Given the description of an element on the screen output the (x, y) to click on. 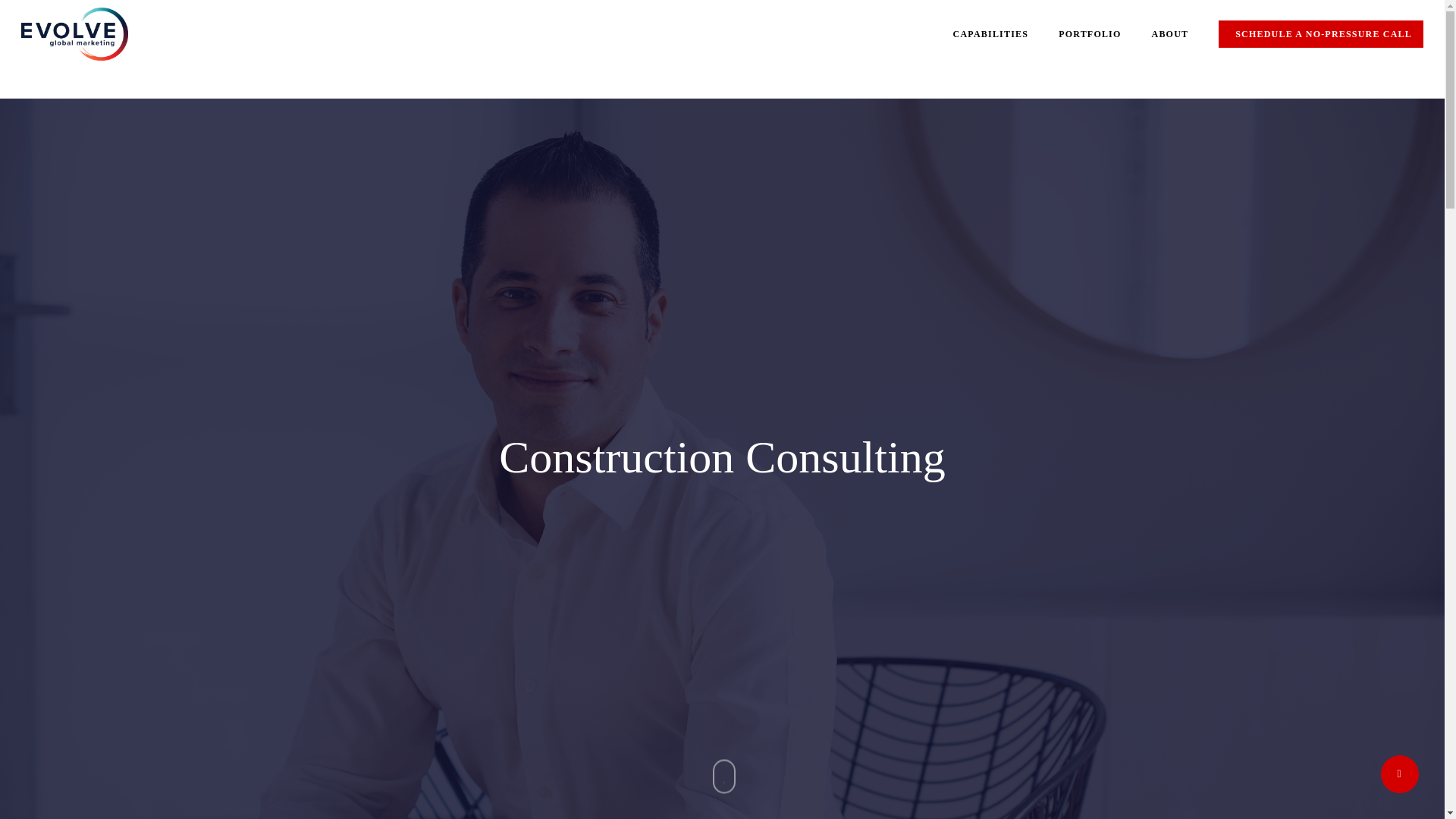
ABOUT (1170, 33)
SCHEDULE A NO-PRESSURE CALL (1320, 33)
PORTFOLIO (1089, 33)
CAPABILITIES (991, 33)
